Given the description of an element on the screen output the (x, y) to click on. 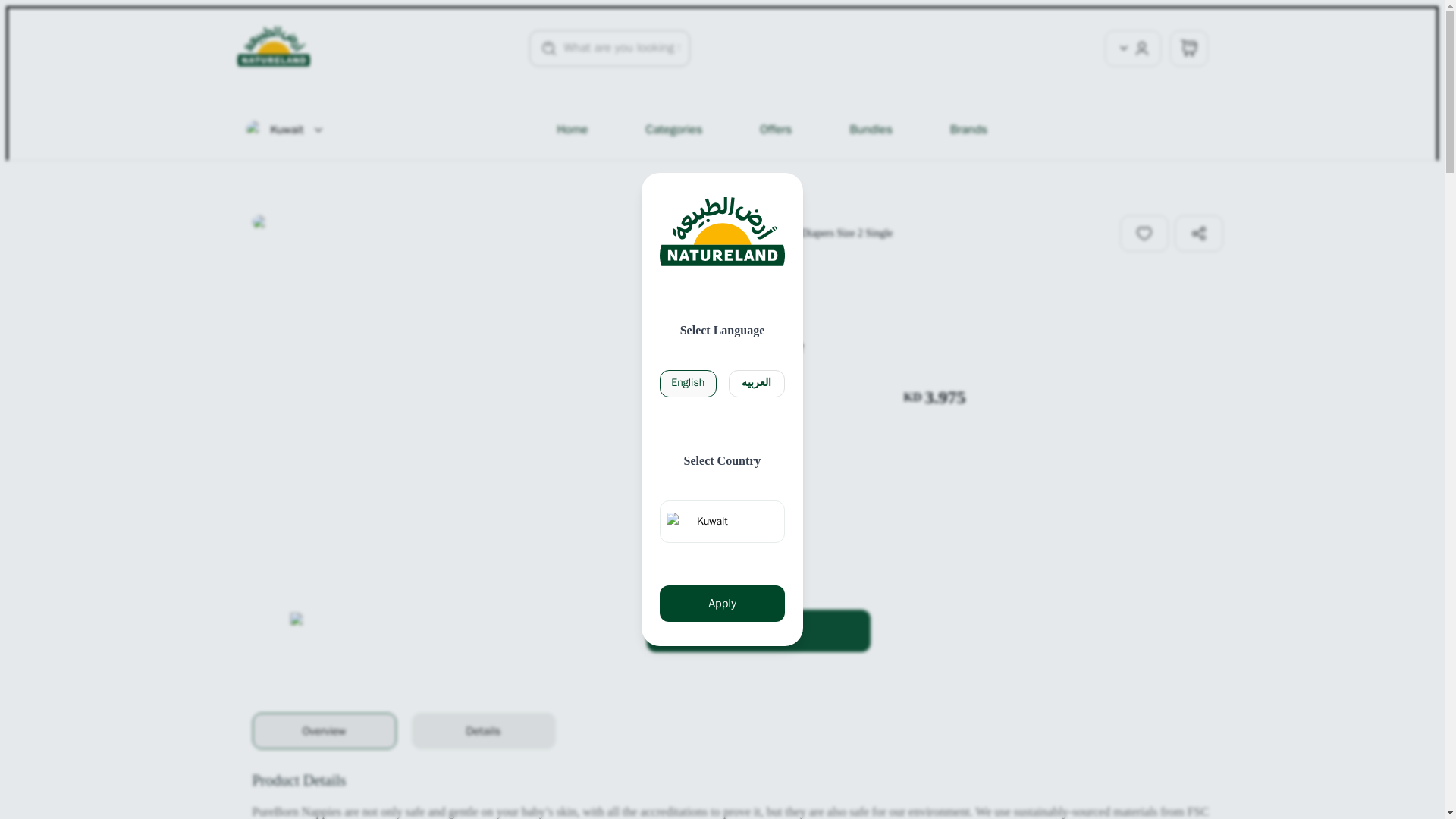
Categories (673, 129)
Home (571, 129)
Kuwait (285, 129)
